Given the description of an element on the screen output the (x, y) to click on. 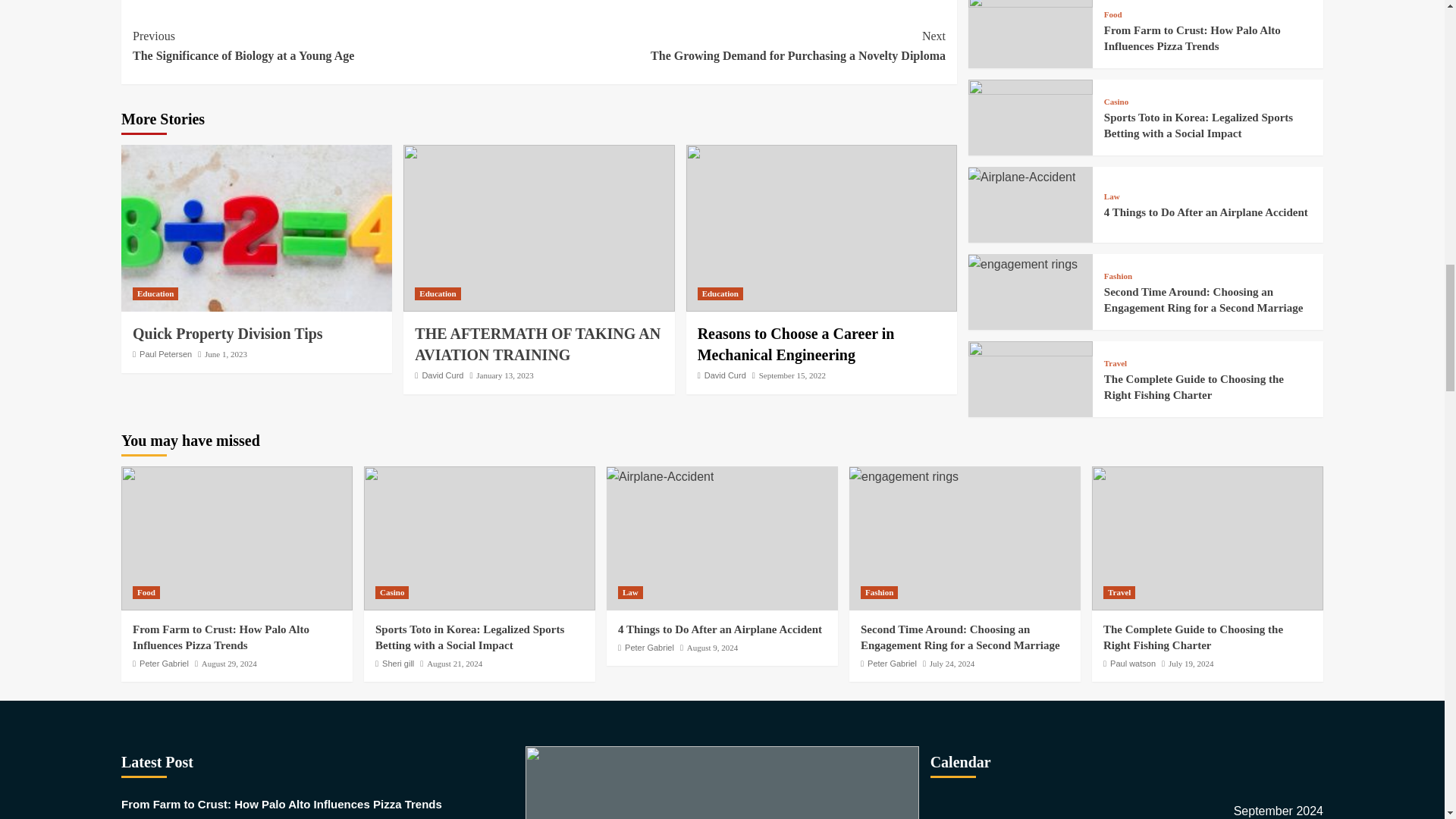
David Curd (442, 375)
David Curd (724, 375)
Quick Property Division Tips  (741, 45)
Education (229, 333)
September 15, 2022 (335, 45)
June 1, 2023 (719, 293)
January 13, 2023 (791, 375)
THE AFTERMATH OF TAKING AN AVIATION TRAINING (226, 353)
